Given the description of an element on the screen output the (x, y) to click on. 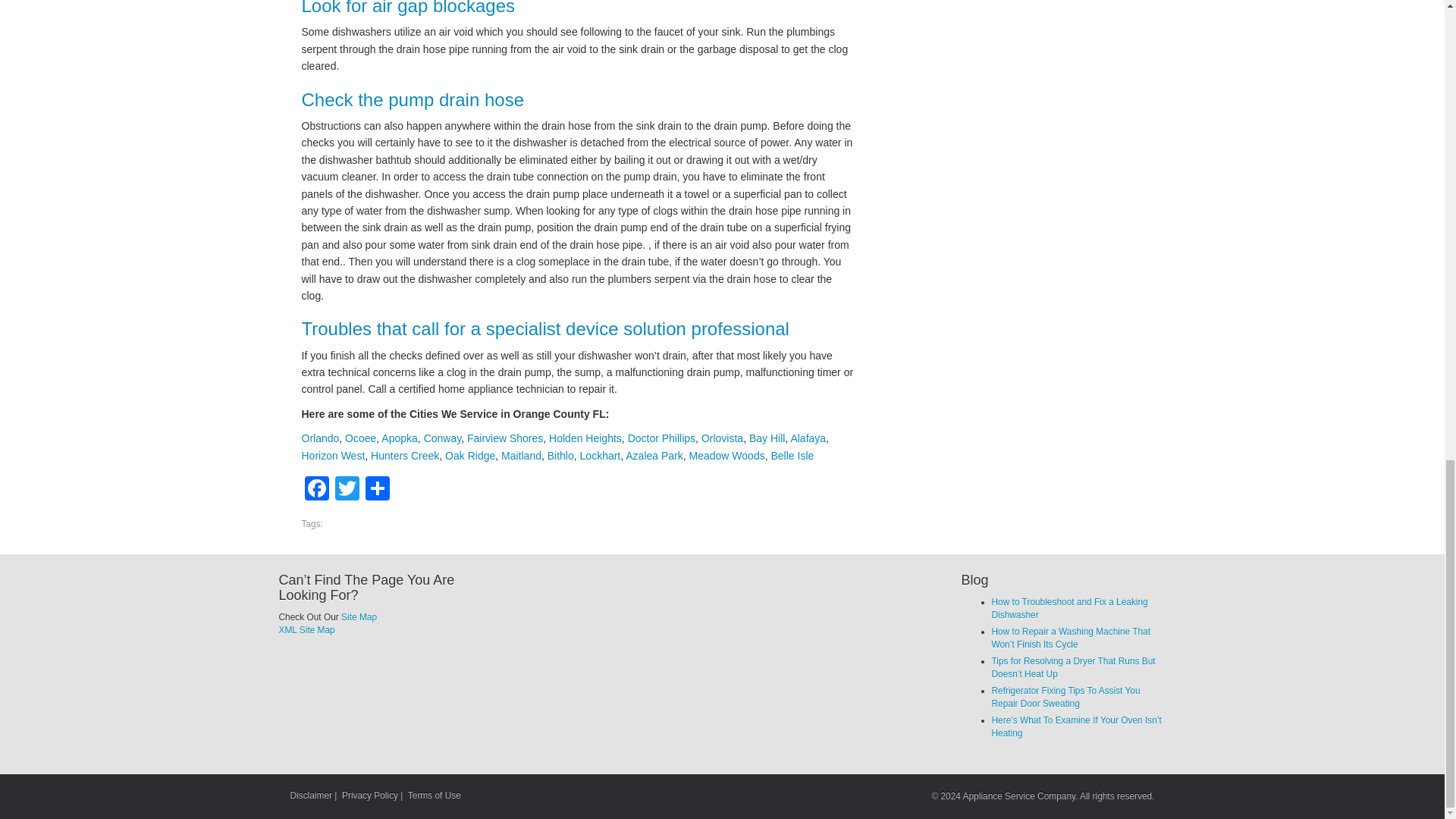
Conway (442, 438)
Orlovista (721, 438)
Holden Heights (584, 438)
Check the pump drain hose (412, 99)
Twitter (346, 489)
Apopka (398, 438)
Orlando (320, 438)
Meadow Woods (726, 455)
Alafaya (807, 438)
